Given the description of an element on the screen output the (x, y) to click on. 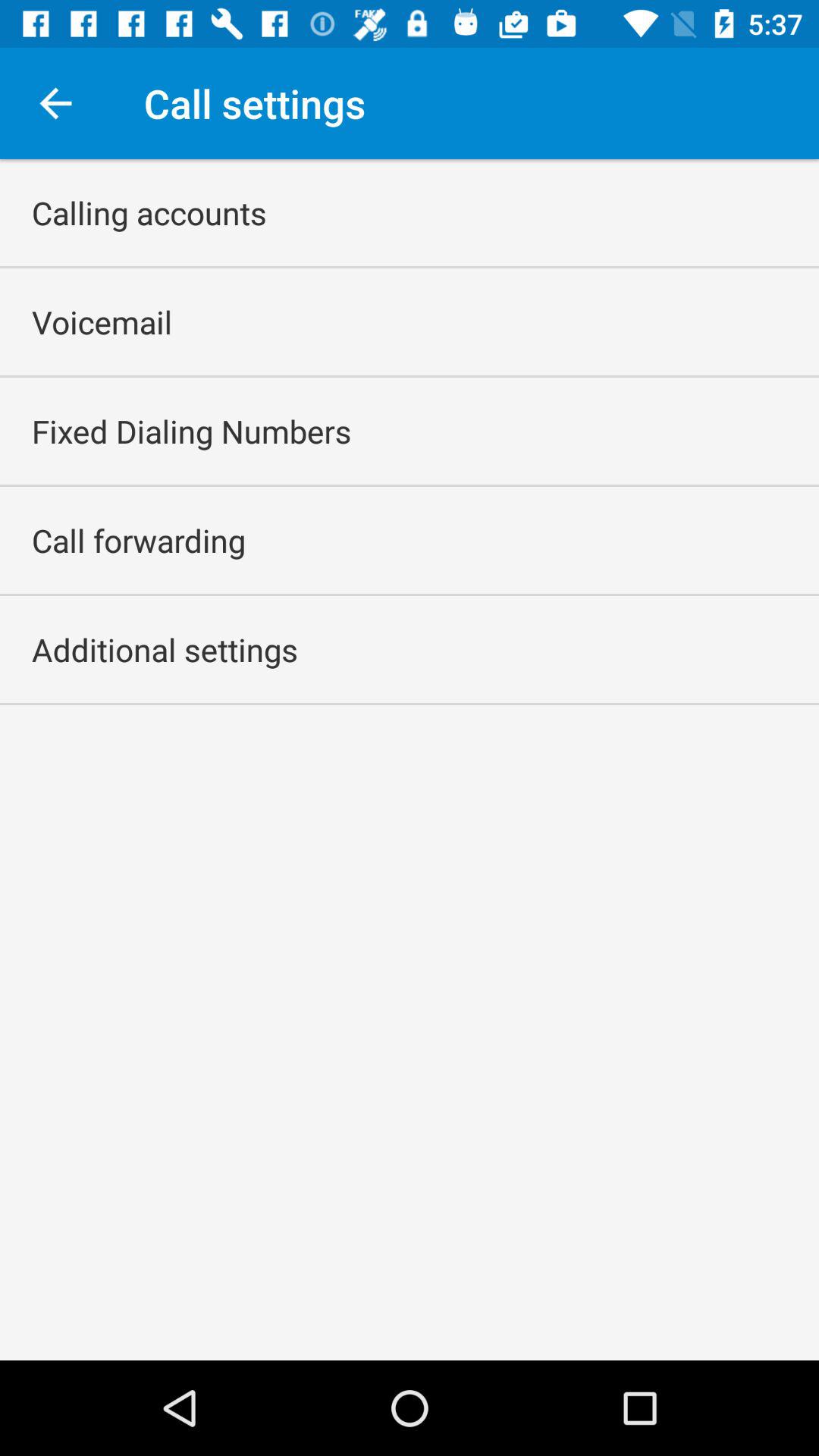
flip until the fixed dialing numbers item (191, 430)
